Given the description of an element on the screen output the (x, y) to click on. 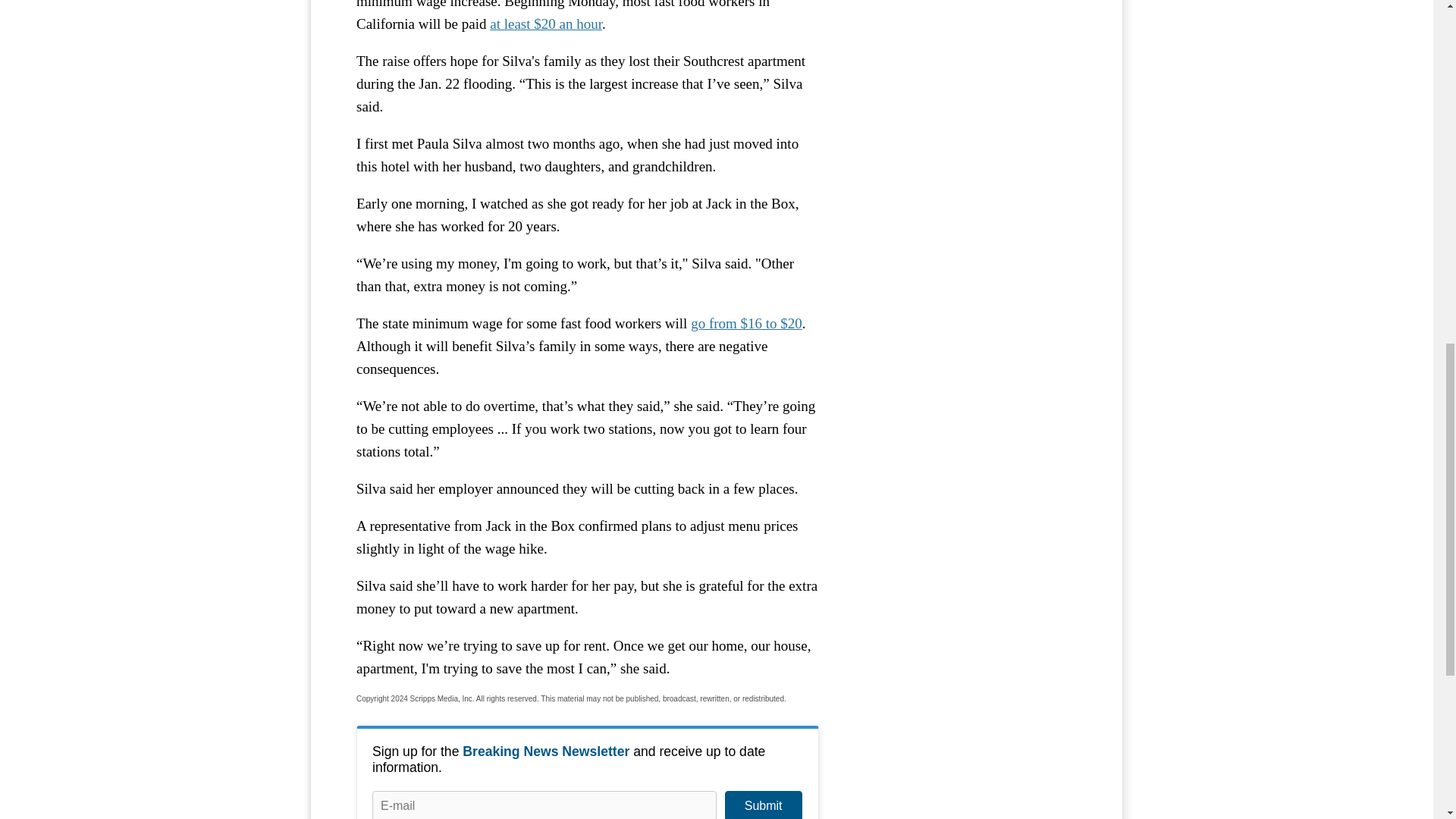
Submit (763, 805)
